Given the description of an element on the screen output the (x, y) to click on. 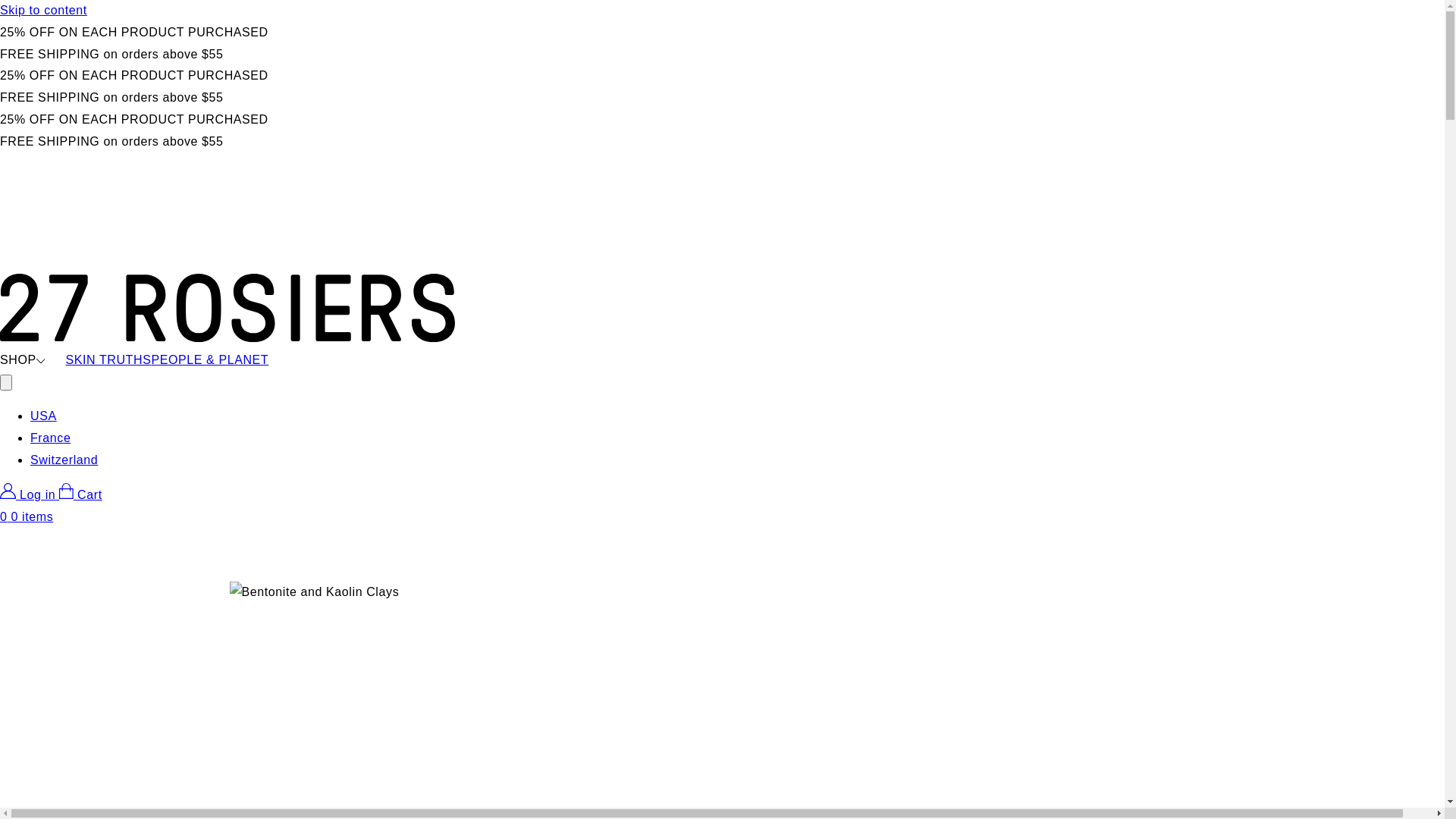
SKIN TRUTHS Element type: text (107, 360)
Log in Element type: text (29, 494)
Skip to content Element type: text (722, 10)
PEOPLE & PLANET Element type: text (209, 360)
France Element type: text (50, 437)
USA Element type: text (43, 415)
Cart
0 0 items Element type: text (722, 508)
Switzerland Element type: text (63, 459)
